Given the description of an element on the screen output the (x, y) to click on. 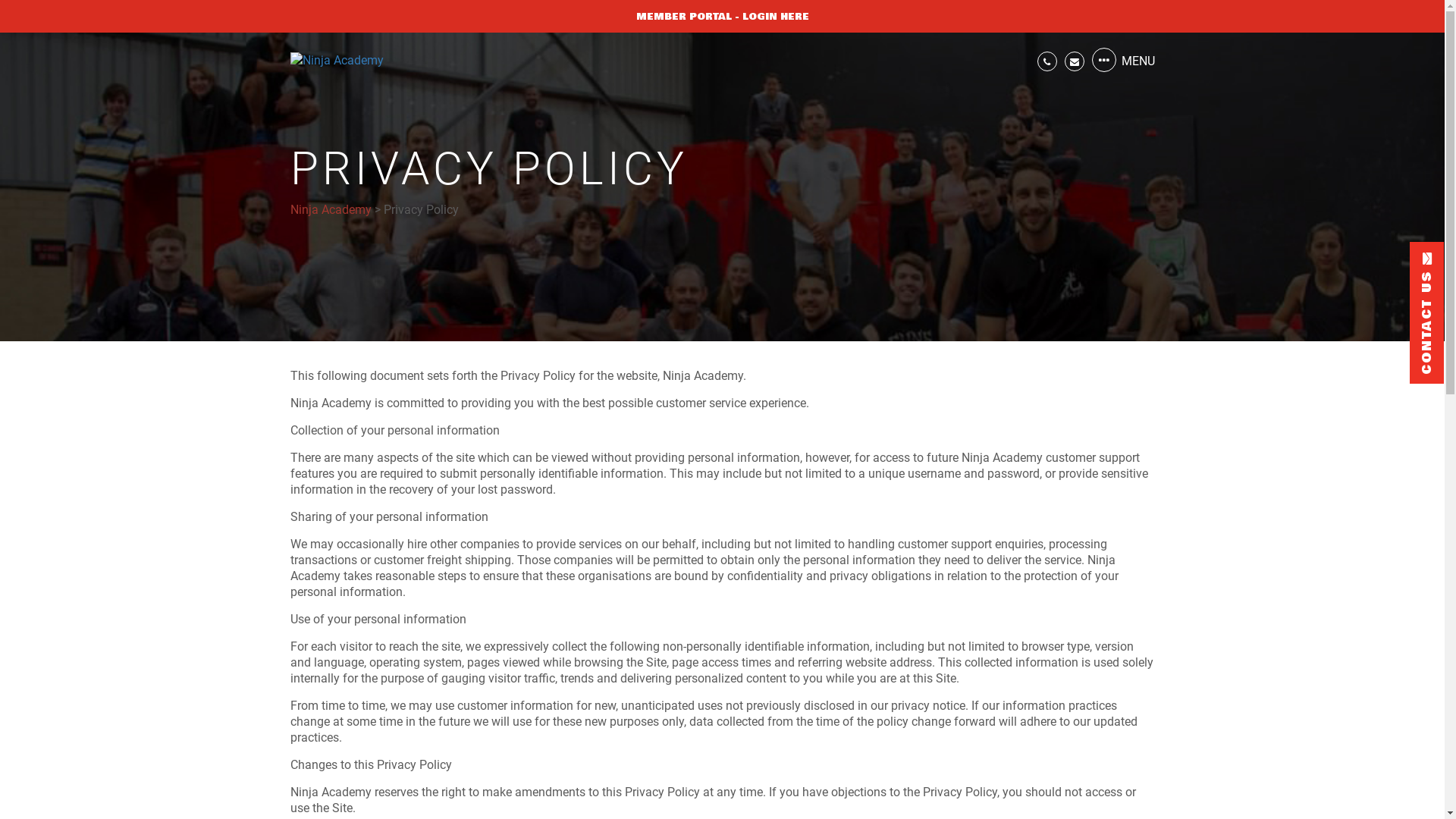
Ninja Academy Element type: text (329, 209)
Ninja Academy Element type: hover (335, 60)
MEMBER PORTAL - LOGIN HERE Element type: text (721, 16)
